Given the description of an element on the screen output the (x, y) to click on. 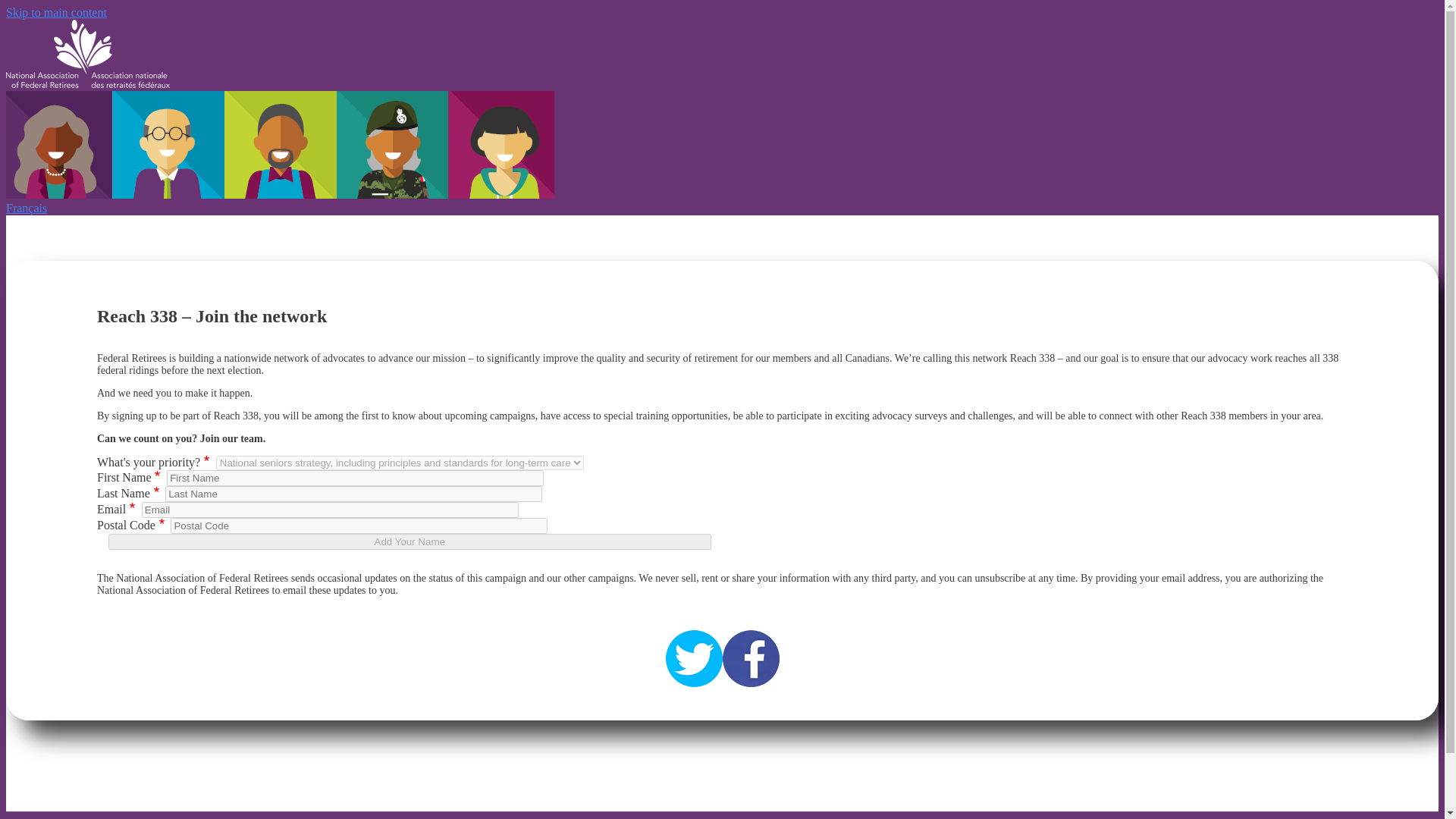
Twitter (693, 658)
Facebook (750, 659)
Skip to main content (55, 11)
Add Your Name (409, 541)
Home (87, 83)
peeps (279, 144)
Add Your Name (409, 541)
Facebook (750, 658)
Twitter (693, 659)
